Given the description of an element on the screen output the (x, y) to click on. 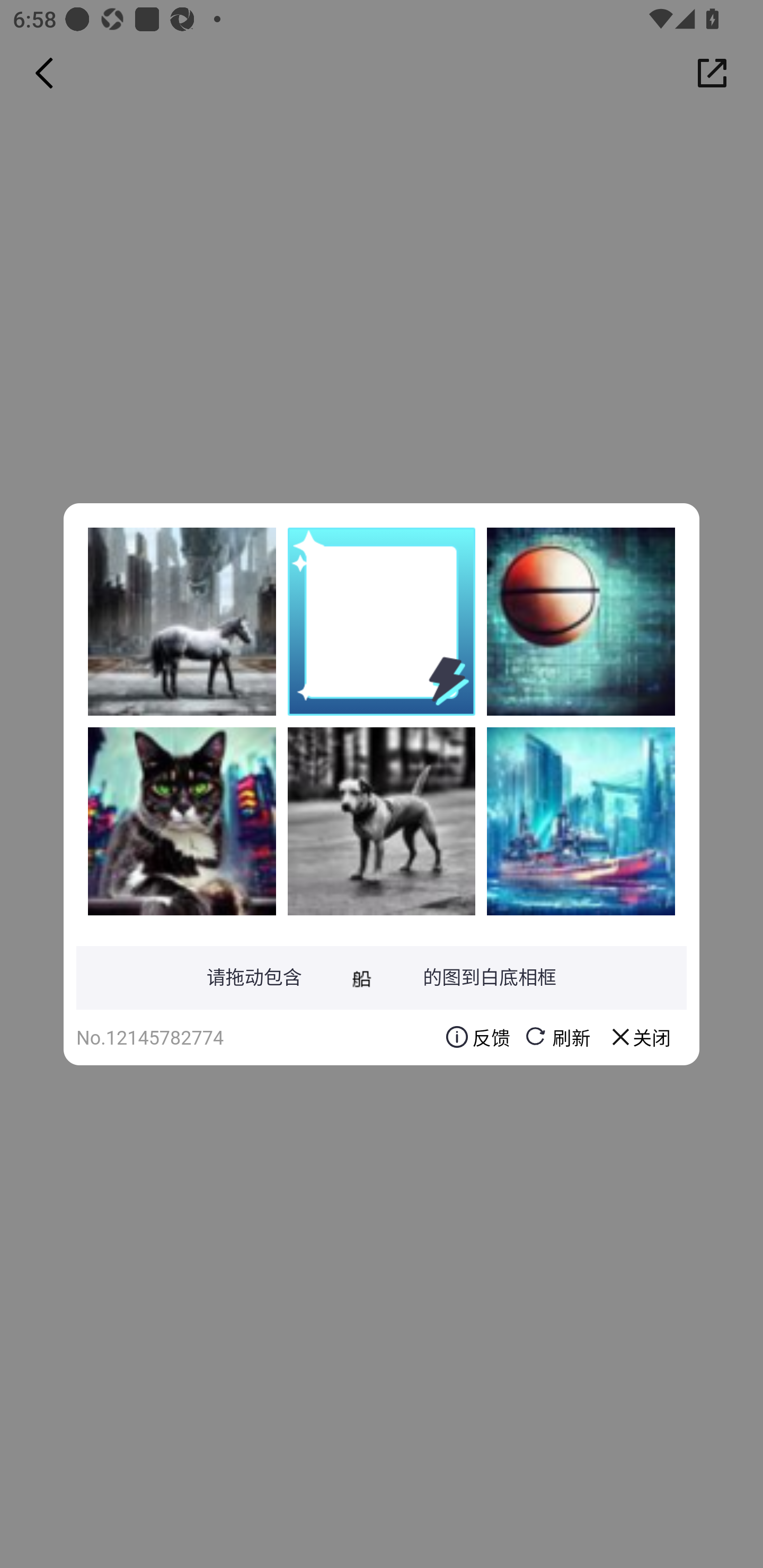
5soz (181, 621)
qfXYhLv+P3jL+ (580, 621)
+ (181, 820)
6yGoWC8mmuqcwXD+EoV (580, 820)
